Given the description of an element on the screen output the (x, y) to click on. 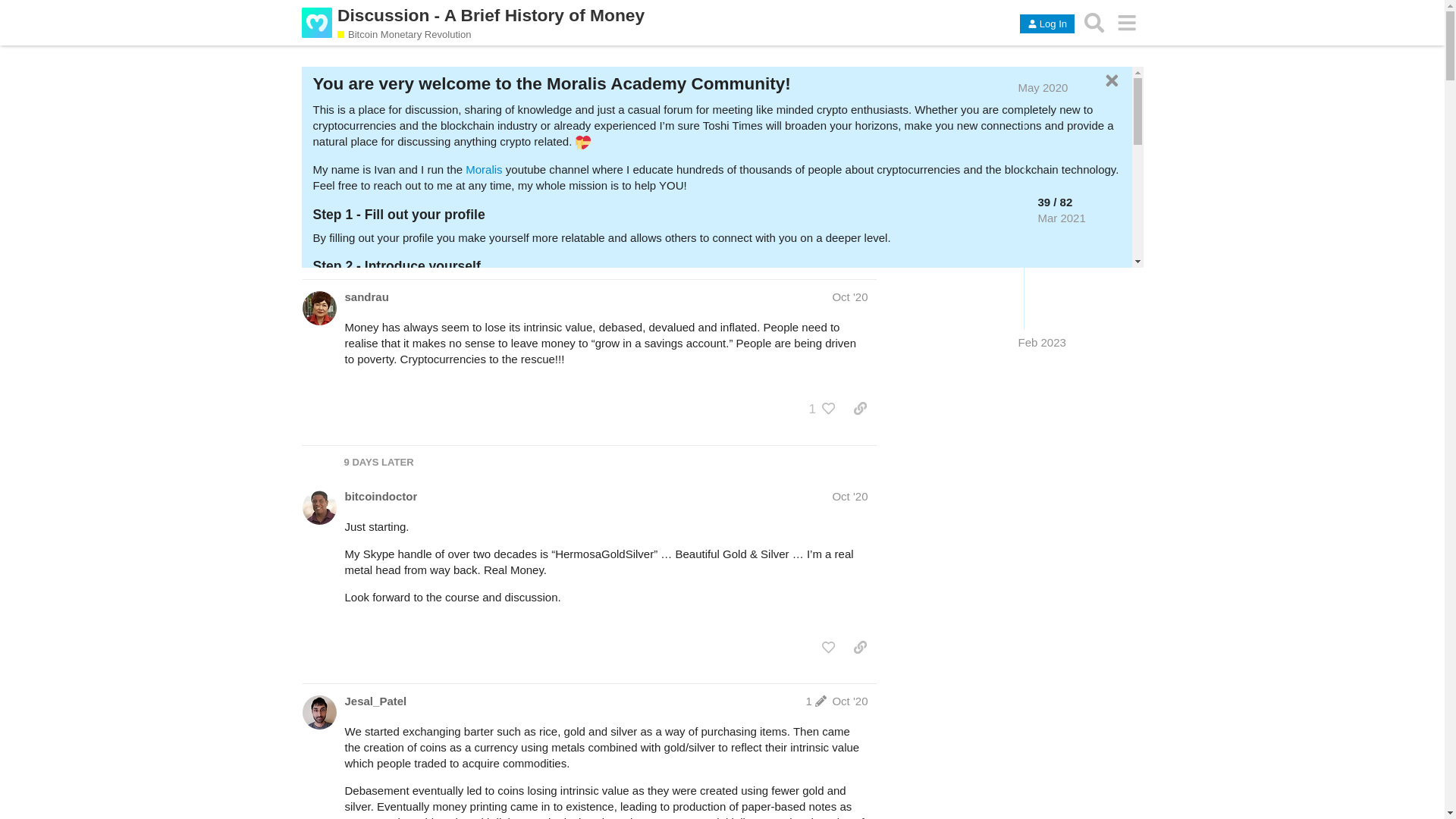
like this post (829, 408)
Dismiss this banner. (1110, 81)
share a link to this post (860, 408)
Sandra Uyeyama (318, 308)
share a link to this post (860, 647)
like this post (828, 647)
Moralis (483, 169)
May 2020 (1042, 87)
Feb 2023 (1041, 342)
Oct '20 (849, 700)
Oct '20 (849, 495)
bitcoindoctor (379, 496)
Log In (1047, 23)
1 (816, 700)
Oct '20 (849, 296)
